Given the description of an element on the screen output the (x, y) to click on. 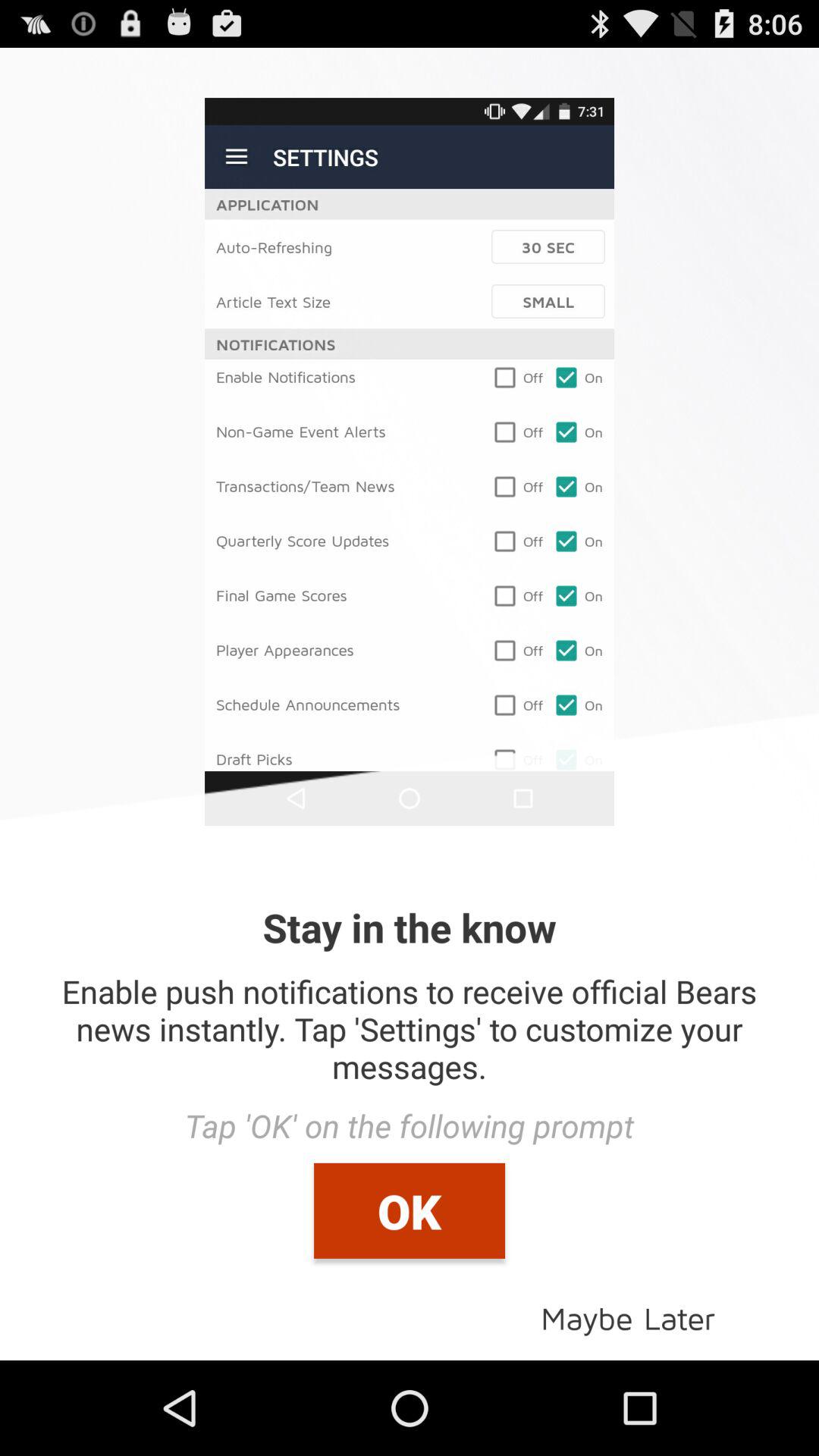
choose maybe later at the bottom right corner (627, 1317)
